Given the description of an element on the screen output the (x, y) to click on. 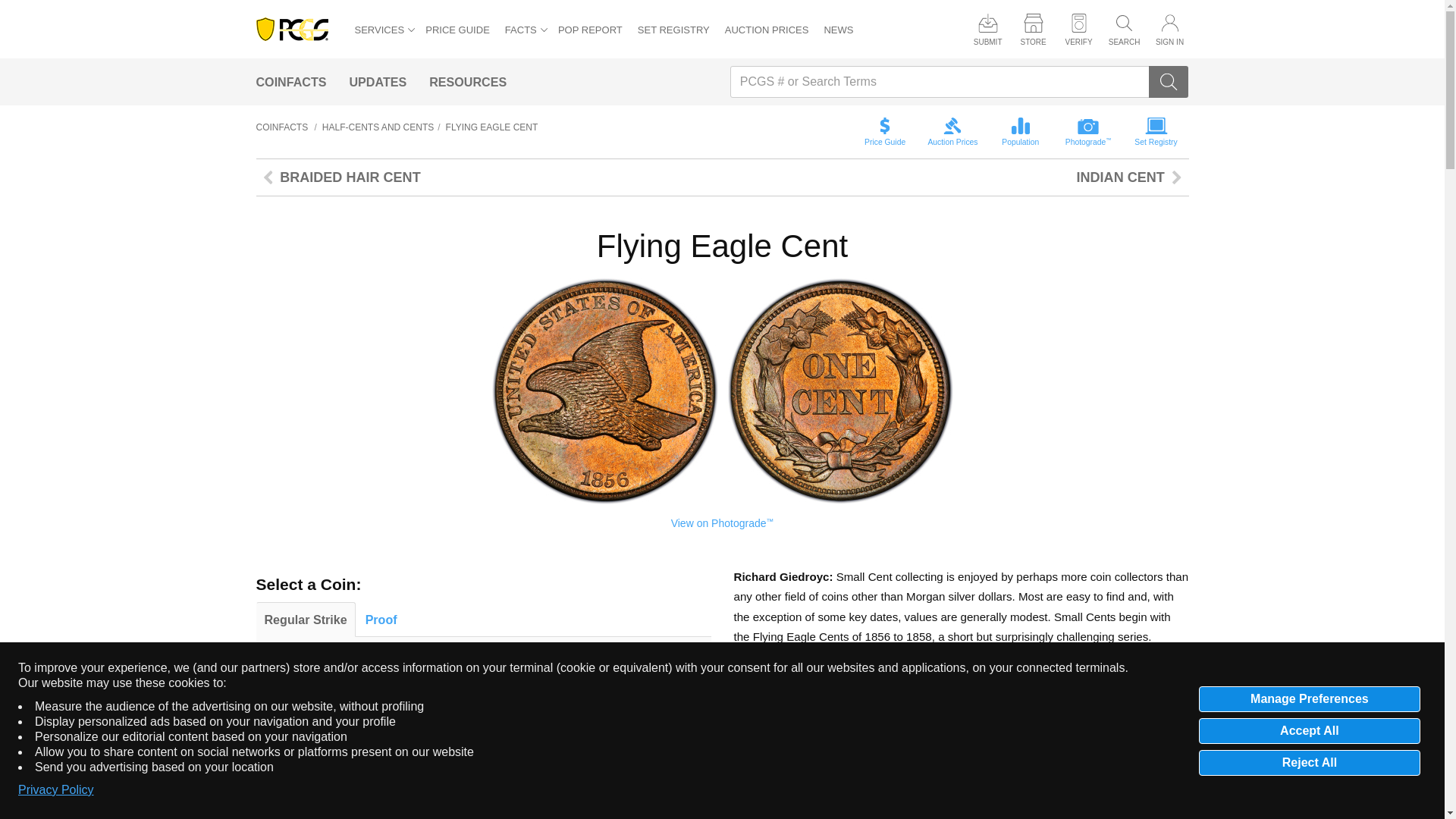
Reject All (1309, 761)
Accept All (1309, 729)
SERVICES (384, 29)
POP REPORT (590, 29)
Manage Preferences (1309, 698)
FACTS (526, 29)
PRICE GUIDE (457, 29)
Privacy Policy (55, 789)
